Given the description of an element on the screen output the (x, y) to click on. 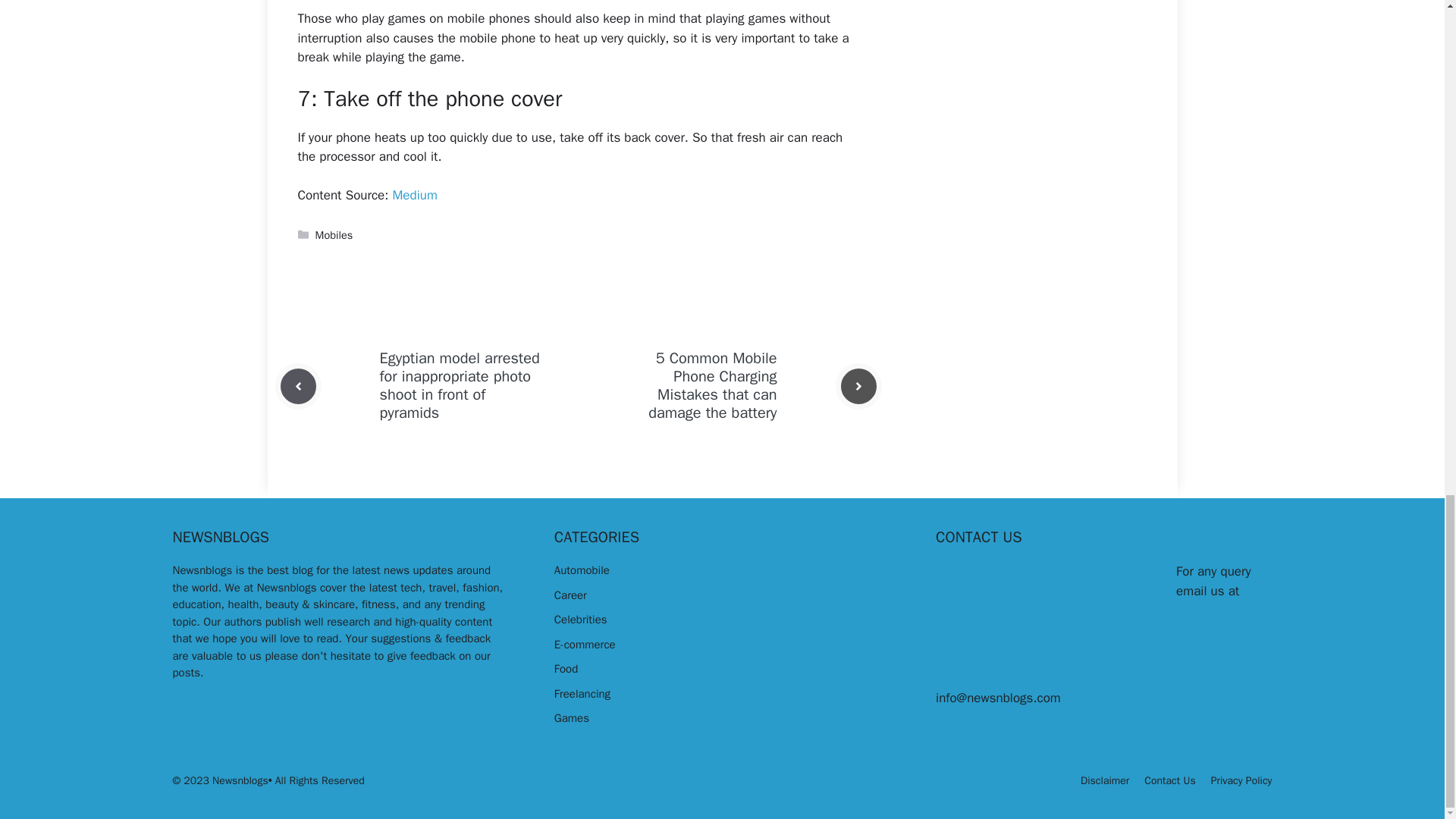
Automobile (582, 570)
Food (566, 668)
Career (570, 594)
Freelancing (582, 694)
Newsnblogs (202, 570)
Mobiles (334, 234)
Celebrities (580, 619)
Games (571, 717)
Medium (413, 195)
Scroll back to top (1406, 269)
E-commerce (584, 644)
